Given the description of an element on the screen output the (x, y) to click on. 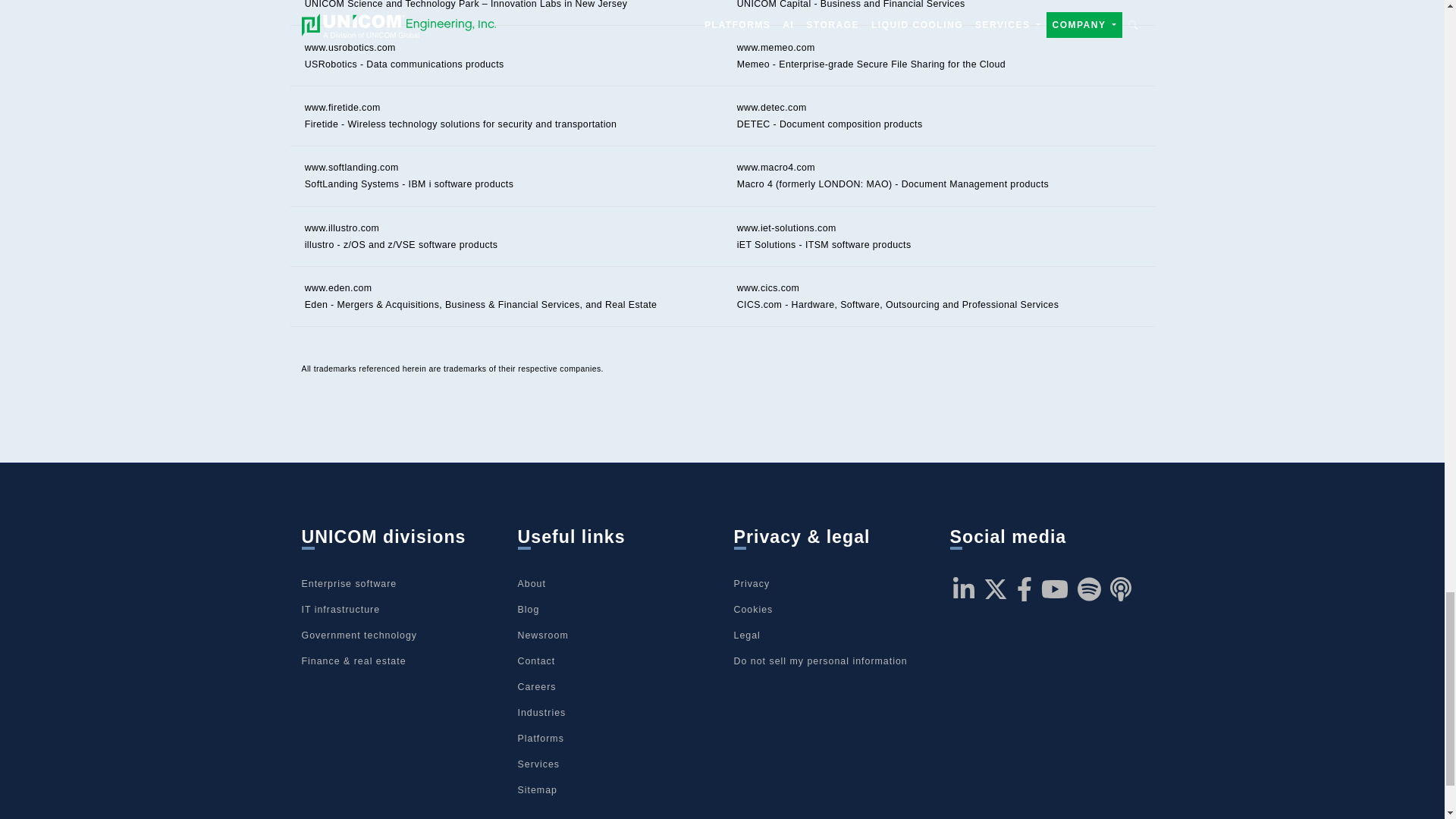
www.illustro.com (342, 227)
www.eden.com (338, 287)
www.usrobotics.com (350, 47)
www.softlanding.com (351, 167)
www.cics.com (767, 287)
www.iet-solutions.com (785, 227)
Contact (535, 661)
www.detec.com (771, 107)
Careers (536, 686)
Enterprise software (349, 583)
Newsroom (541, 634)
Government technology (359, 634)
About (530, 583)
www.macro4.com (775, 167)
IT infrastructure (340, 609)
